Given the description of an element on the screen output the (x, y) to click on. 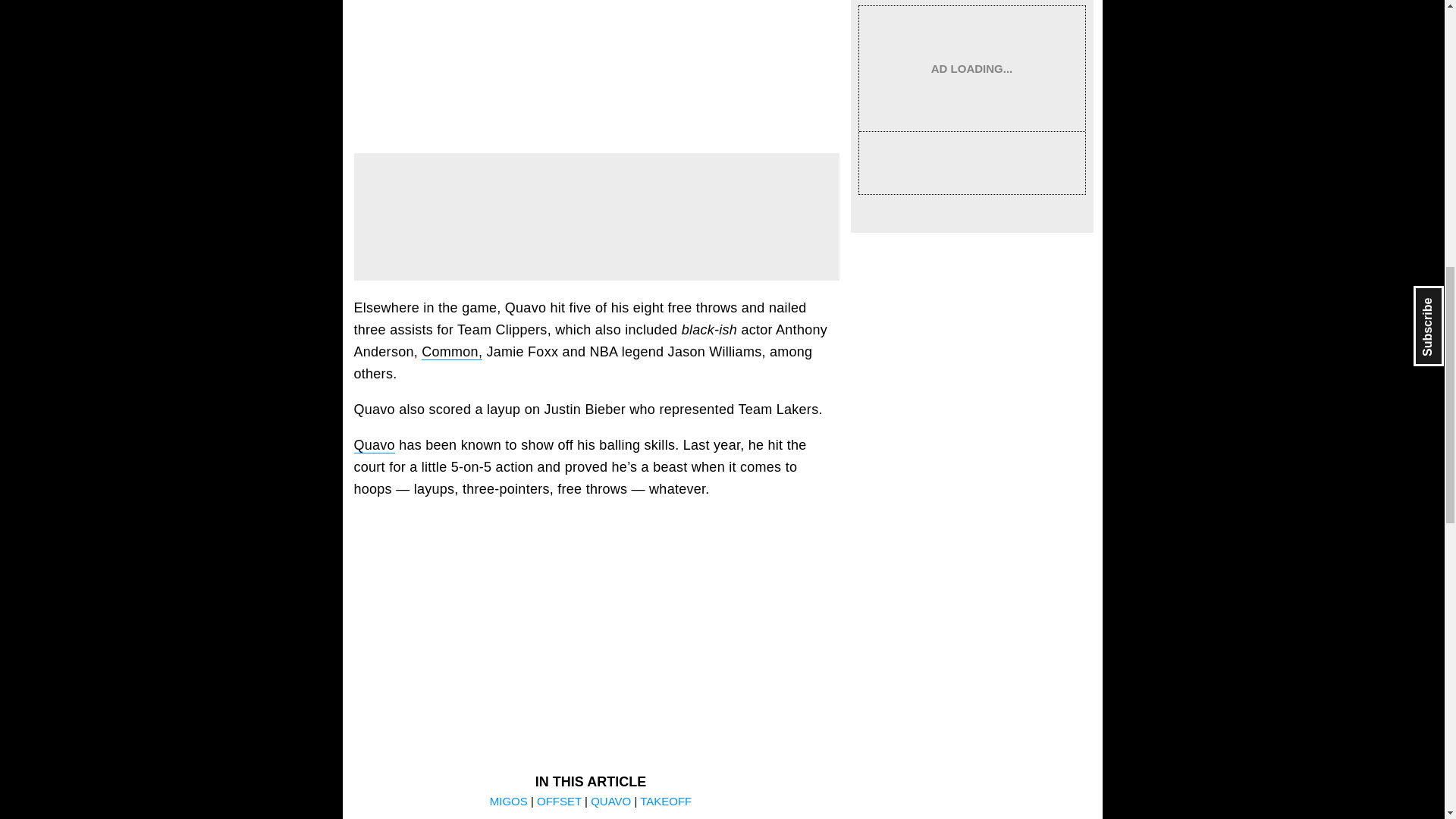
MIGOS (510, 800)
OFFSET (559, 800)
Quavo Playing 5v5 Basketball and Showing His Skills (595, 620)
Common, (451, 351)
Quavo (373, 445)
